Given the description of an element on the screen output the (x, y) to click on. 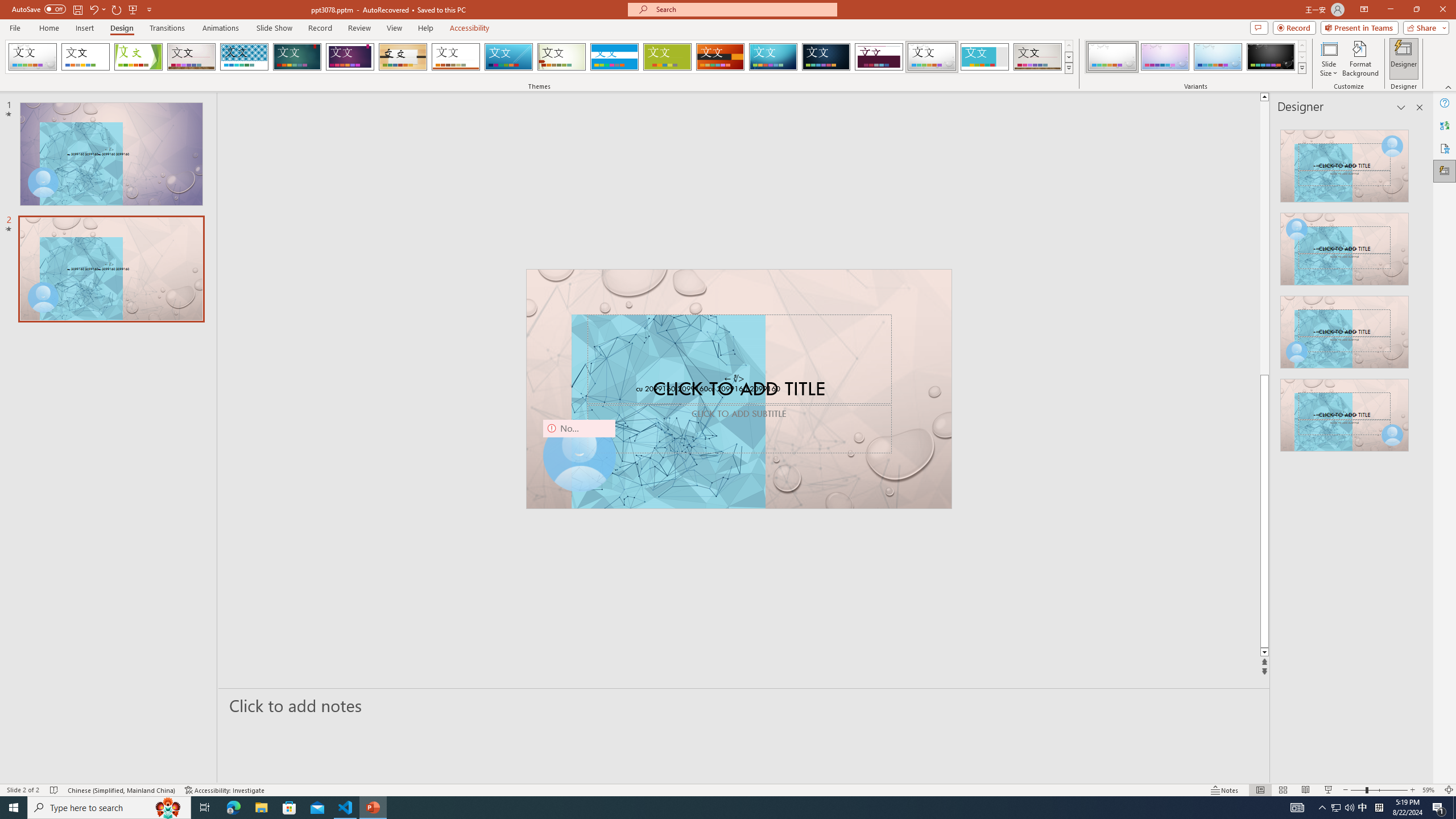
Format Background (1360, 58)
Droplet (931, 56)
Frame (984, 56)
Banded (614, 56)
